Given the description of an element on the screen output the (x, y) to click on. 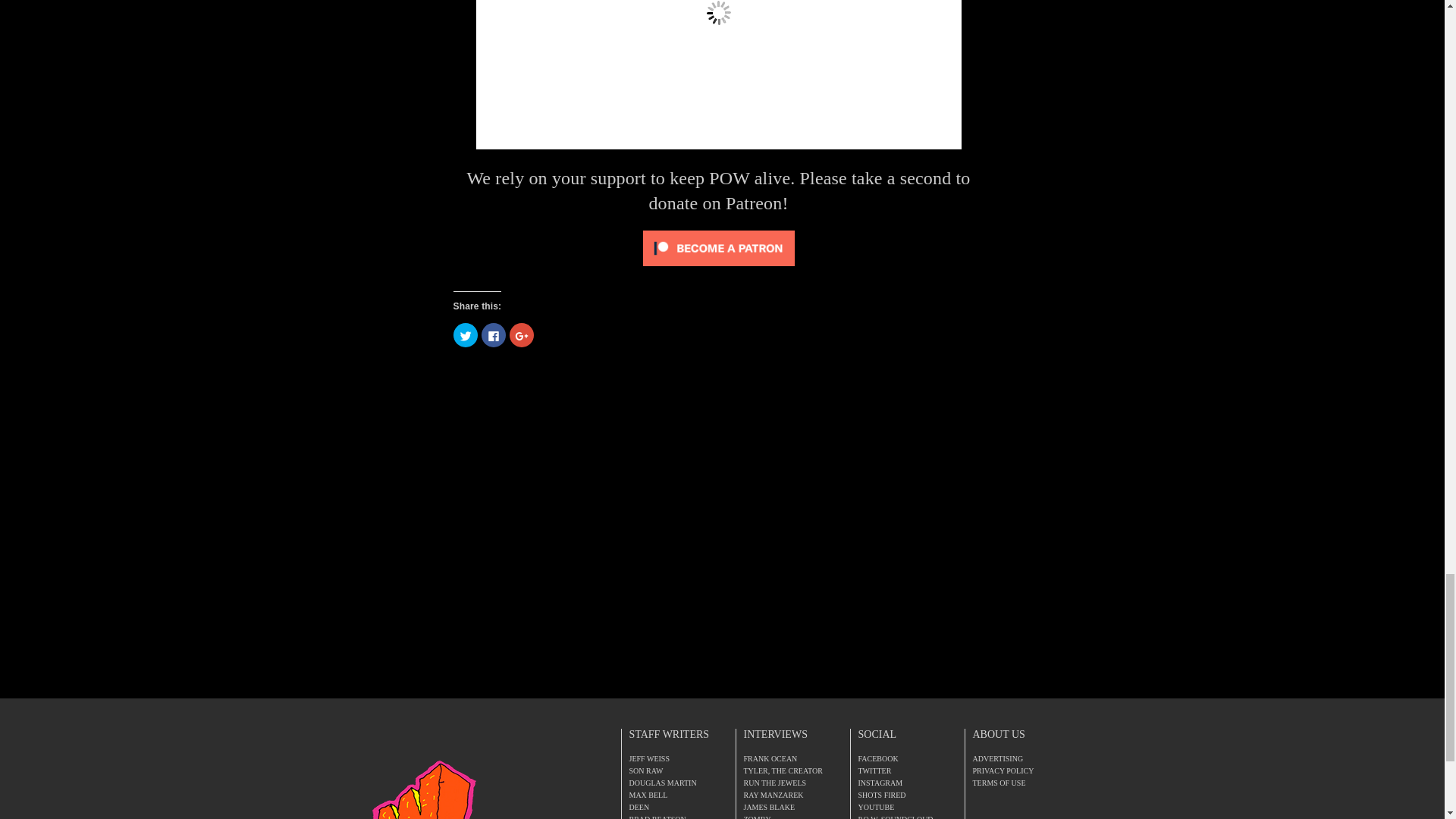
SON RAW (645, 770)
MAX BELL (648, 795)
Click to share on Facebook (493, 334)
DEEN (638, 807)
Click to share on Twitter (464, 334)
JEFF WEISS (648, 758)
DOUGLAS MARTIN (662, 782)
